Given the description of an element on the screen output the (x, y) to click on. 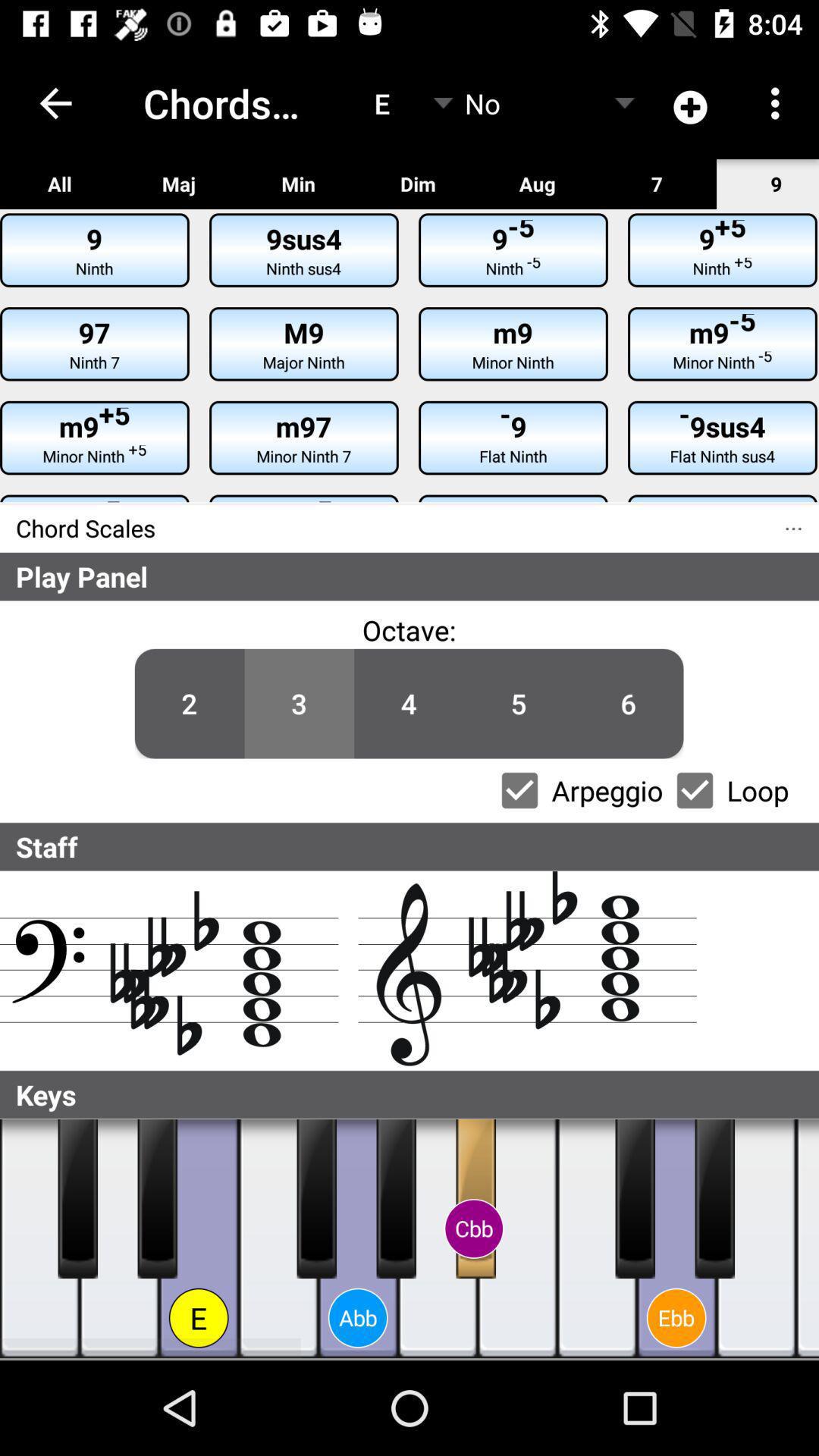
e (756, 1238)
